Given the description of an element on the screen output the (x, y) to click on. 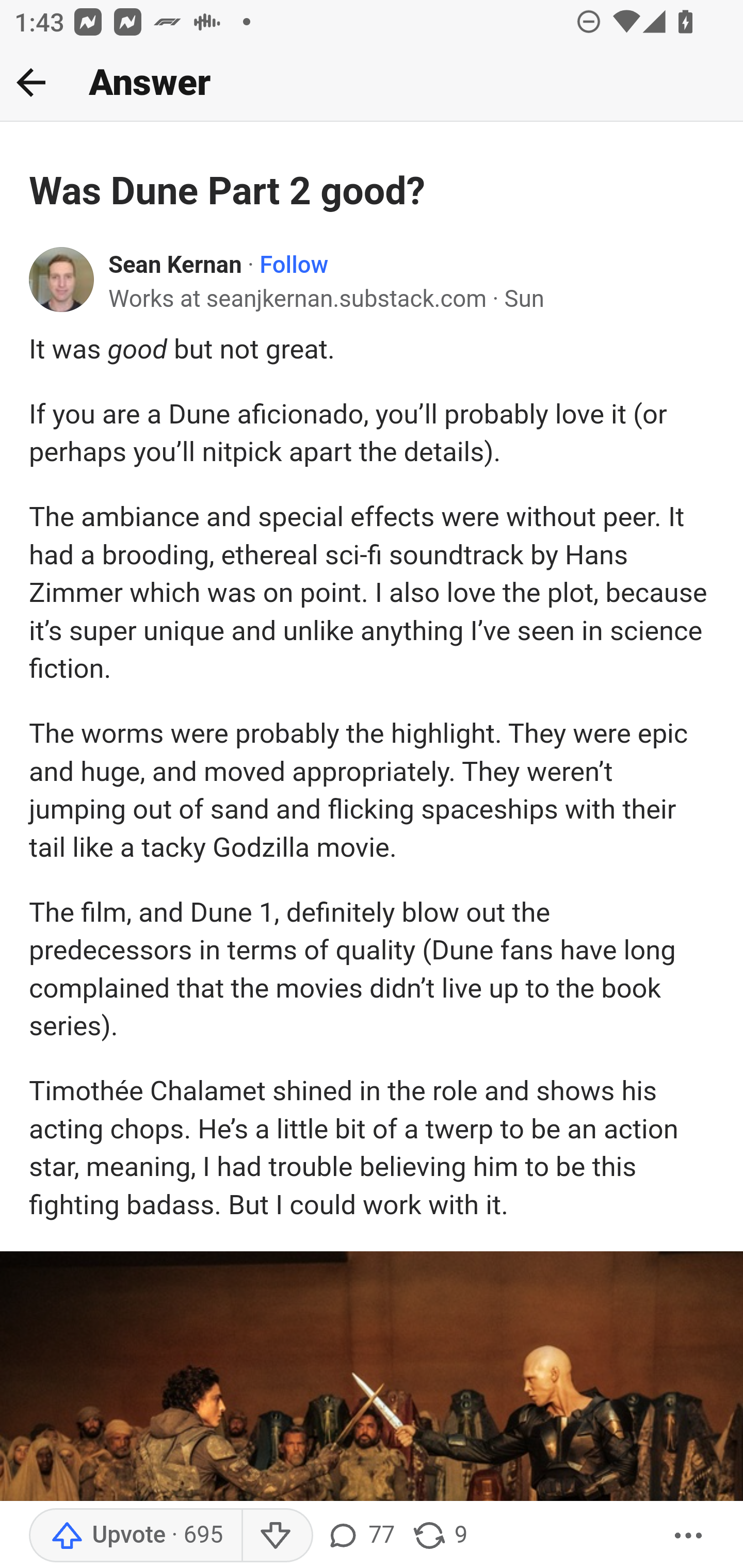
Back (30, 82)
Was Dune Part 2 good? (227, 191)
Profile photo for Sean Kernan (61, 279)
Sean Kernan (175, 265)
Follow (293, 265)
main-qimg-cccb61f29d39ea515acf9925c6e5d1be (371, 1408)
Upvote (135, 1535)
Downvote (277, 1535)
77 comments (360, 1535)
9 shares (439, 1535)
More (688, 1535)
